Given the description of an element on the screen output the (x, y) to click on. 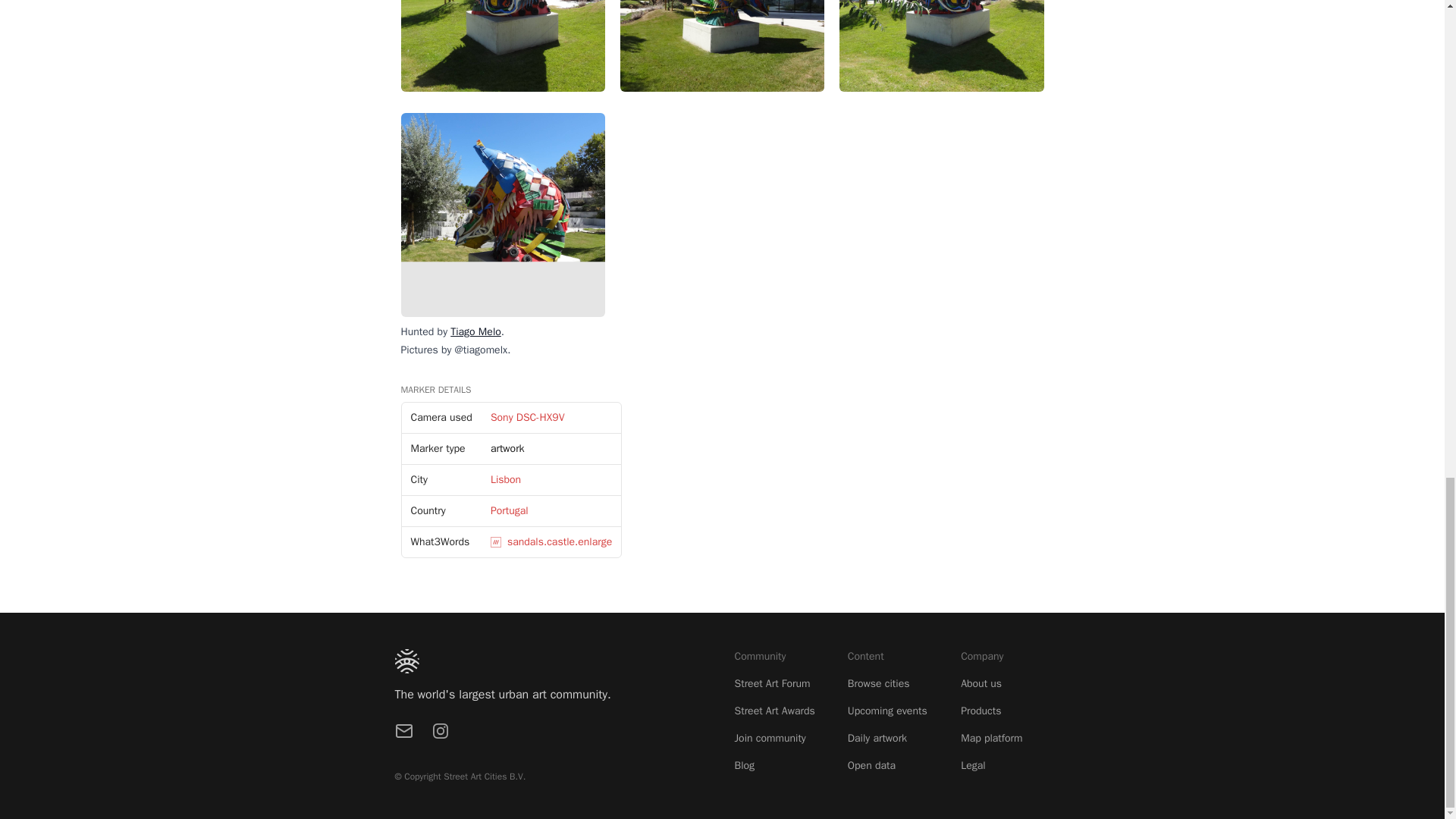
Upcoming events (887, 710)
What3Words location of the marker (440, 541)
Street Art Forum (771, 683)
Join community (769, 738)
Products (980, 710)
Open data (871, 765)
sandals.castle.enlarge (550, 541)
Daily artwork (877, 738)
Browse cities (878, 683)
About us (980, 683)
